Given the description of an element on the screen output the (x, y) to click on. 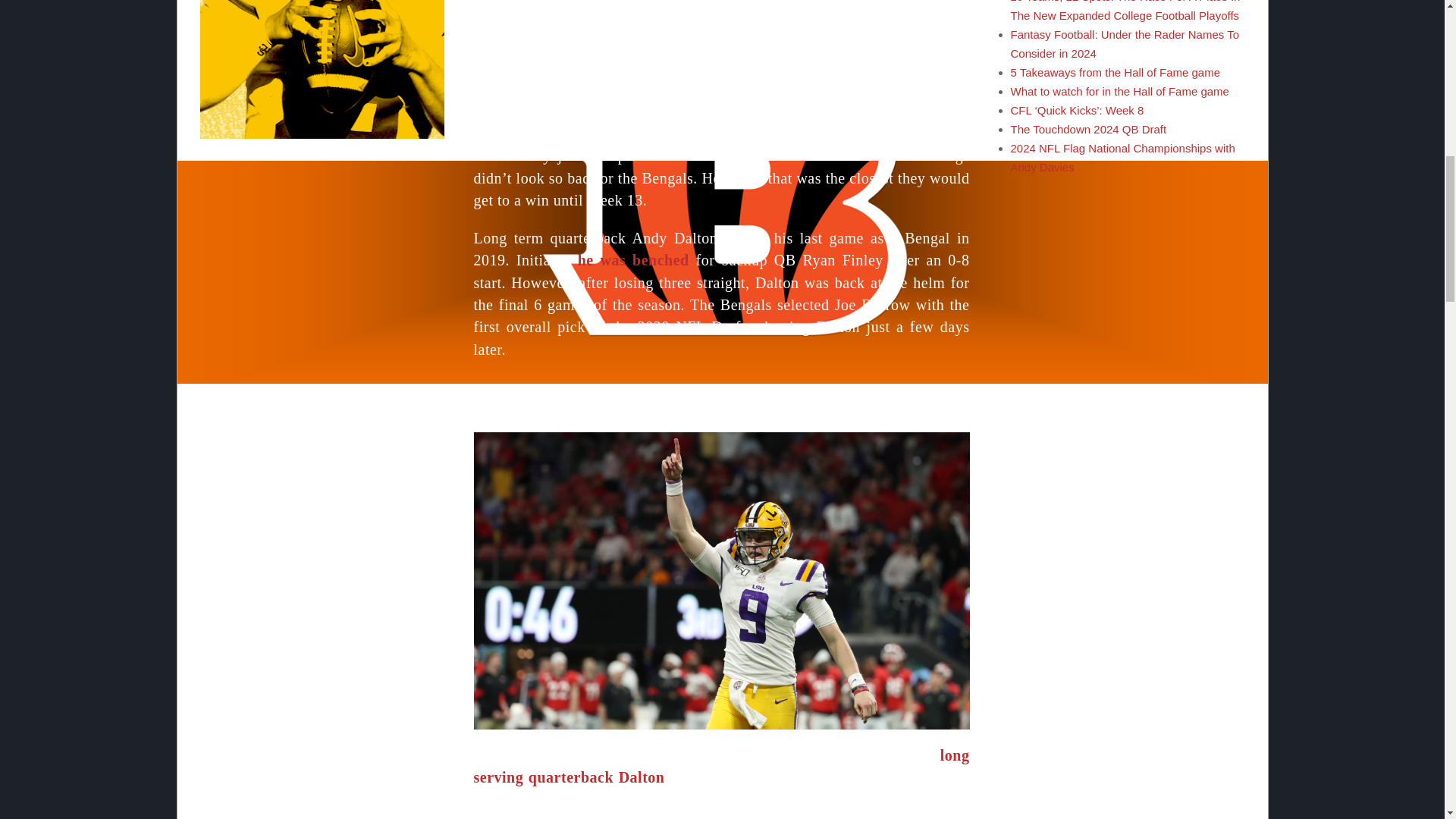
Fantasy Football: Under the Rader Names To Consider in 2024 (1124, 43)
5 Takeaways from the Hall of Fame game (1115, 72)
he was benched (633, 259)
long serving quarterback Dalton (721, 765)
What to watch for in the Hall of Fame game (1119, 91)
